Given the description of an element on the screen output the (x, y) to click on. 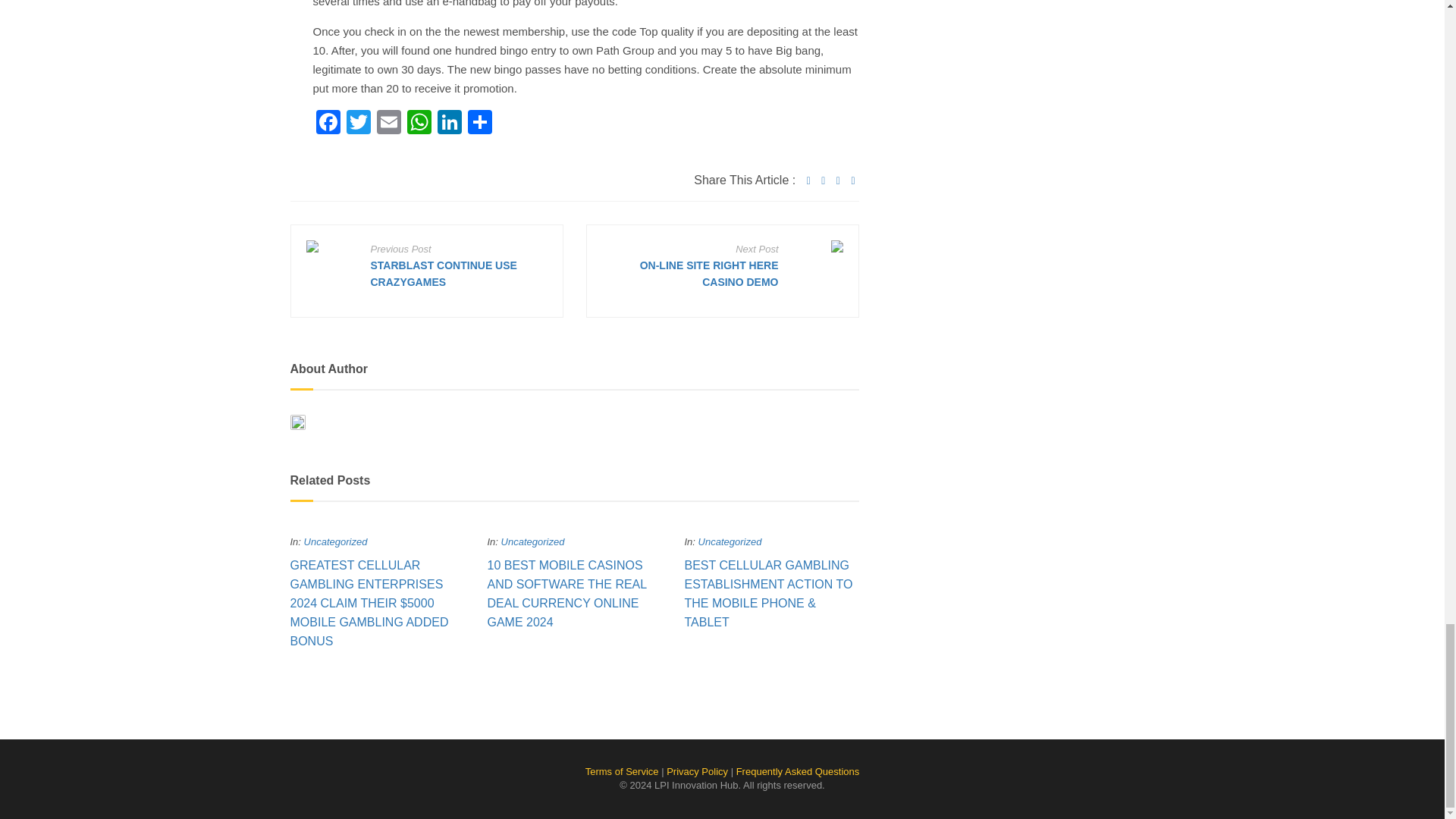
WhatsApp (418, 123)
LinkedIn (448, 123)
Facebook (327, 123)
Twitter (357, 123)
LinkedIn (448, 123)
Facebook (327, 123)
Email (387, 123)
Email (387, 123)
WhatsApp (418, 123)
Twitter (357, 123)
